Given the description of an element on the screen output the (x, y) to click on. 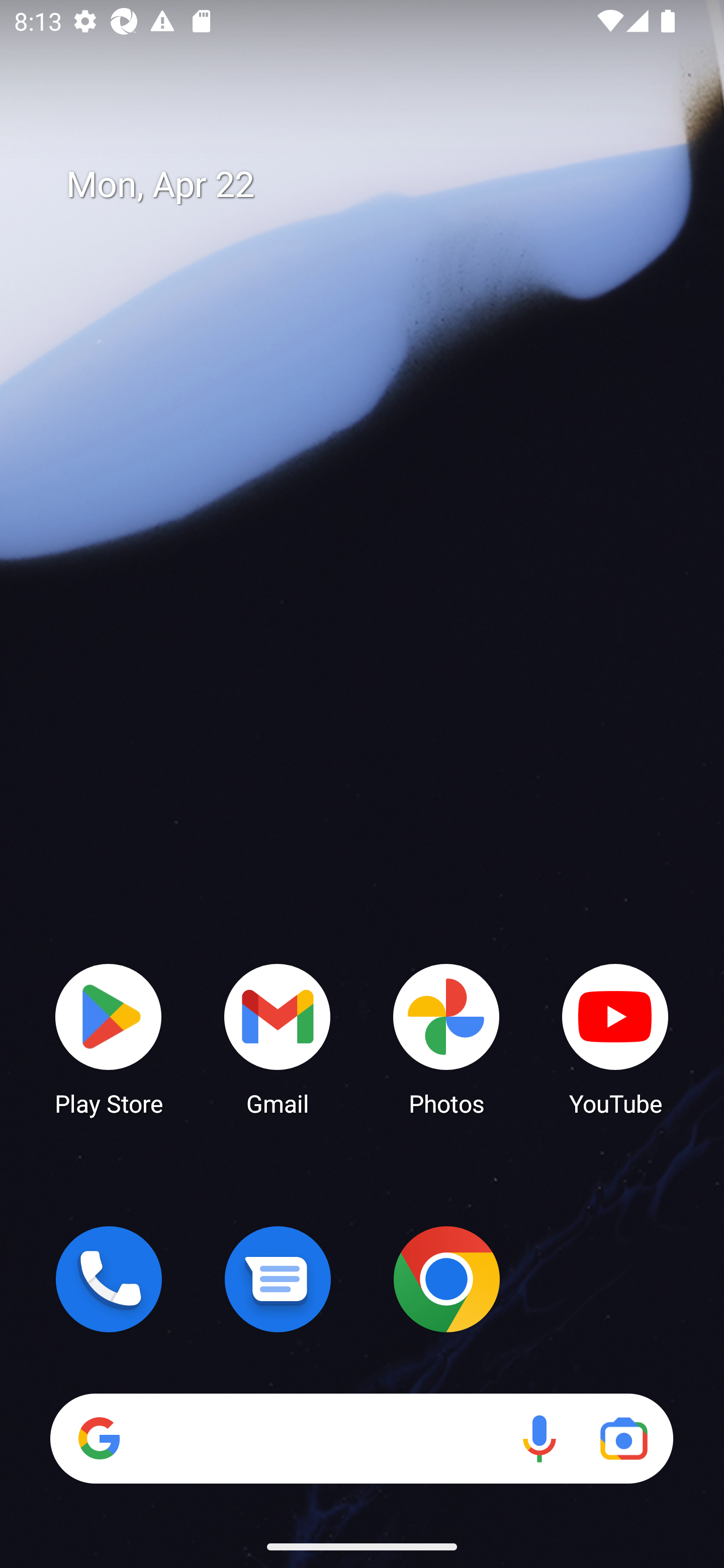
Mon, Apr 22 (375, 184)
Play Store (108, 1038)
Gmail (277, 1038)
Photos (445, 1038)
YouTube (615, 1038)
Phone (108, 1279)
Messages (277, 1279)
Chrome (446, 1279)
Search Voice search Google Lens (361, 1438)
Voice search (539, 1438)
Google Lens (623, 1438)
